Given the description of an element on the screen output the (x, y) to click on. 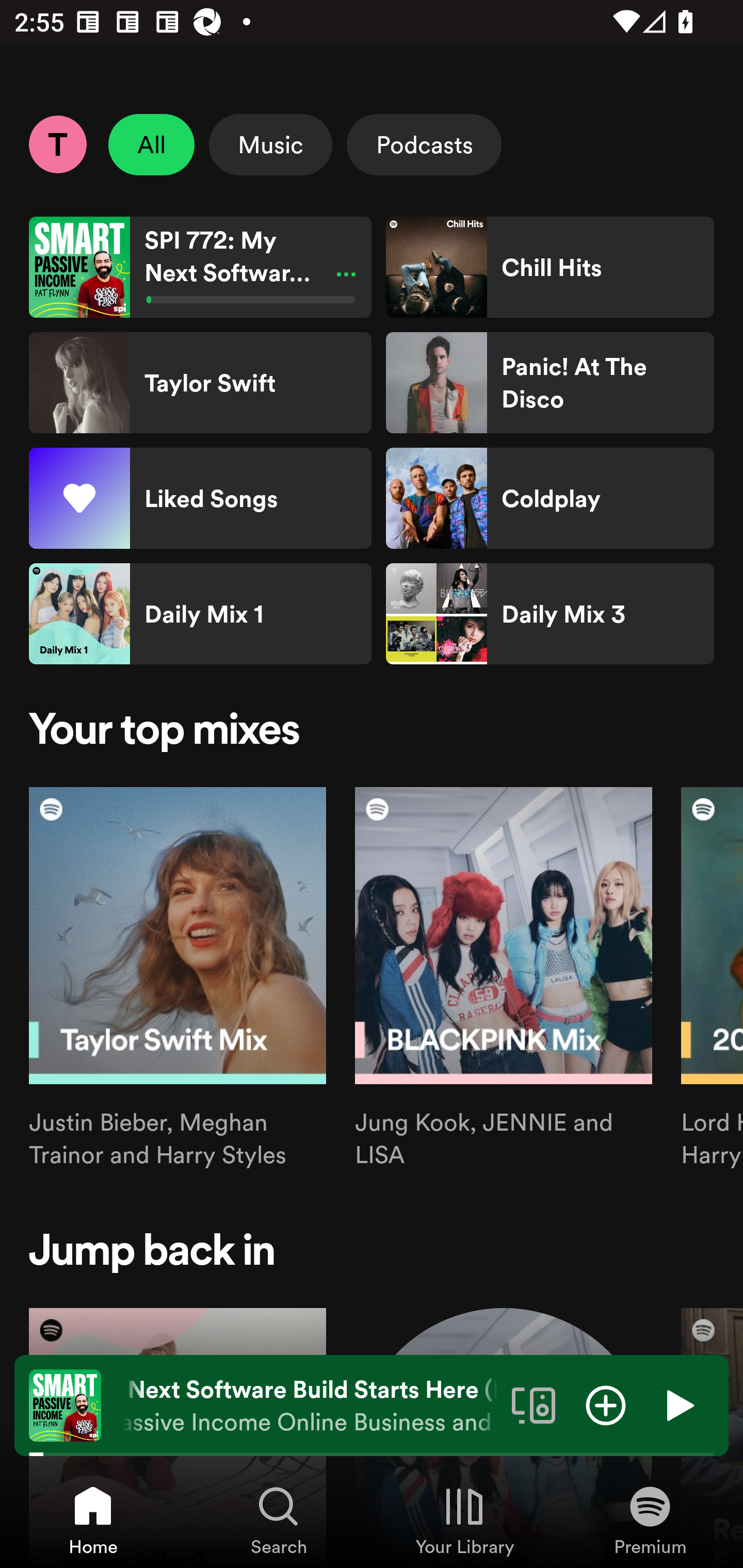
Profile (57, 144)
All Unselect All (151, 144)
Music Select Music (270, 144)
Podcasts Select Podcasts (423, 144)
Chill Hits Shortcut Chill Hits (549, 267)
Taylor Swift Shortcut Taylor Swift (199, 382)
Panic! At The Disco Shortcut Panic! At The Disco (549, 382)
Liked Songs Shortcut Liked Songs (199, 498)
Coldplay Shortcut Coldplay (549, 498)
Daily Mix 1 Shortcut Daily Mix 1 (199, 613)
Daily Mix 3 Shortcut Daily Mix 3 (549, 613)
The cover art of the currently playing track (64, 1404)
Connect to a device. Opens the devices menu (533, 1404)
Add item (605, 1404)
Play (677, 1404)
Home, Tab 1 of 4 Home Home (92, 1519)
Search, Tab 2 of 4 Search Search (278, 1519)
Your Library, Tab 3 of 4 Your Library Your Library (464, 1519)
Premium, Tab 4 of 4 Premium Premium (650, 1519)
